Given the description of an element on the screen output the (x, y) to click on. 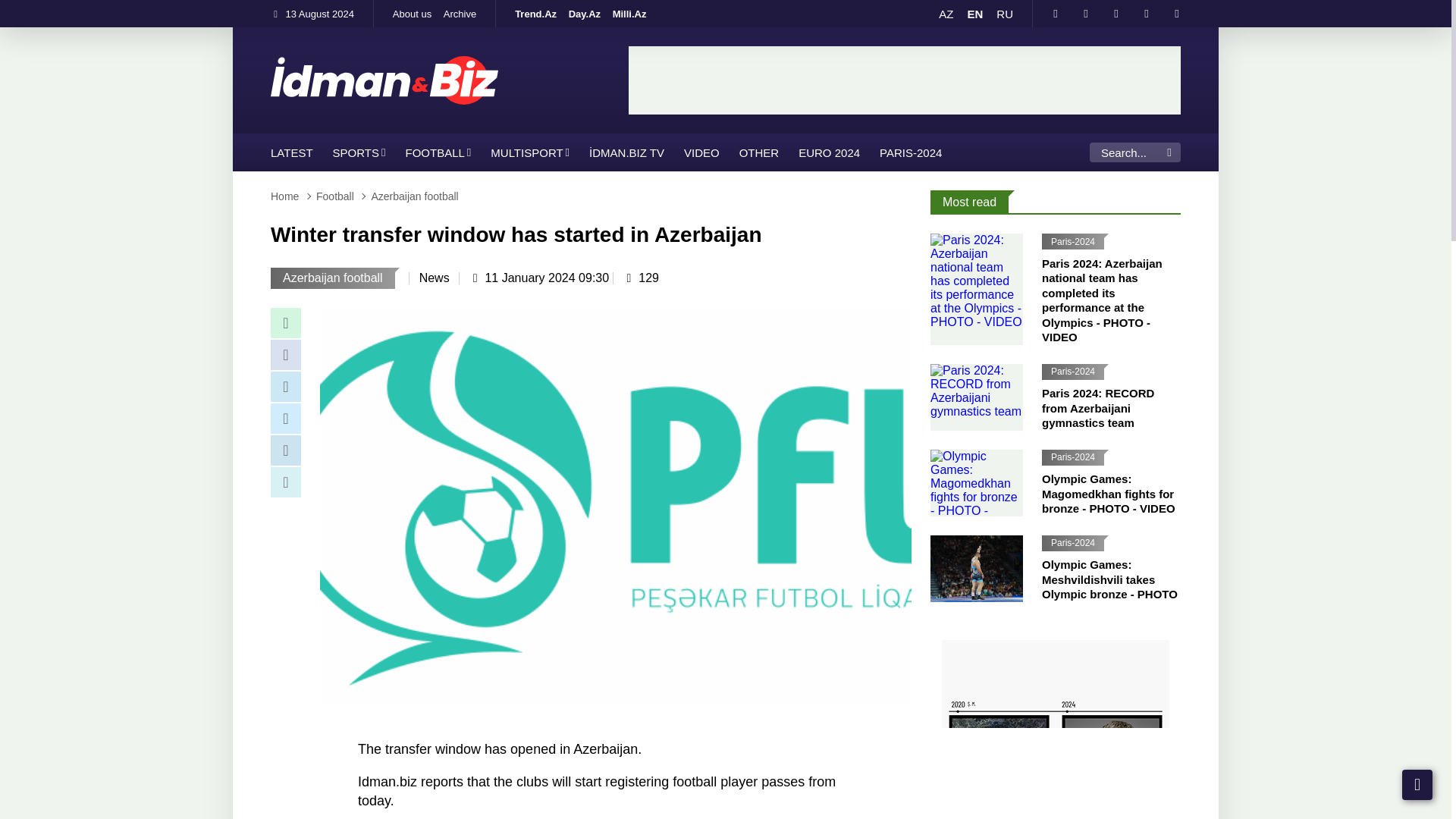
AZ (945, 13)
Trend.Az (535, 13)
Archive (459, 13)
About us (412, 13)
EN (974, 13)
RU (1004, 13)
Day.Az (584, 13)
LATEST (291, 151)
Milli.Az (629, 13)
